Given the description of an element on the screen output the (x, y) to click on. 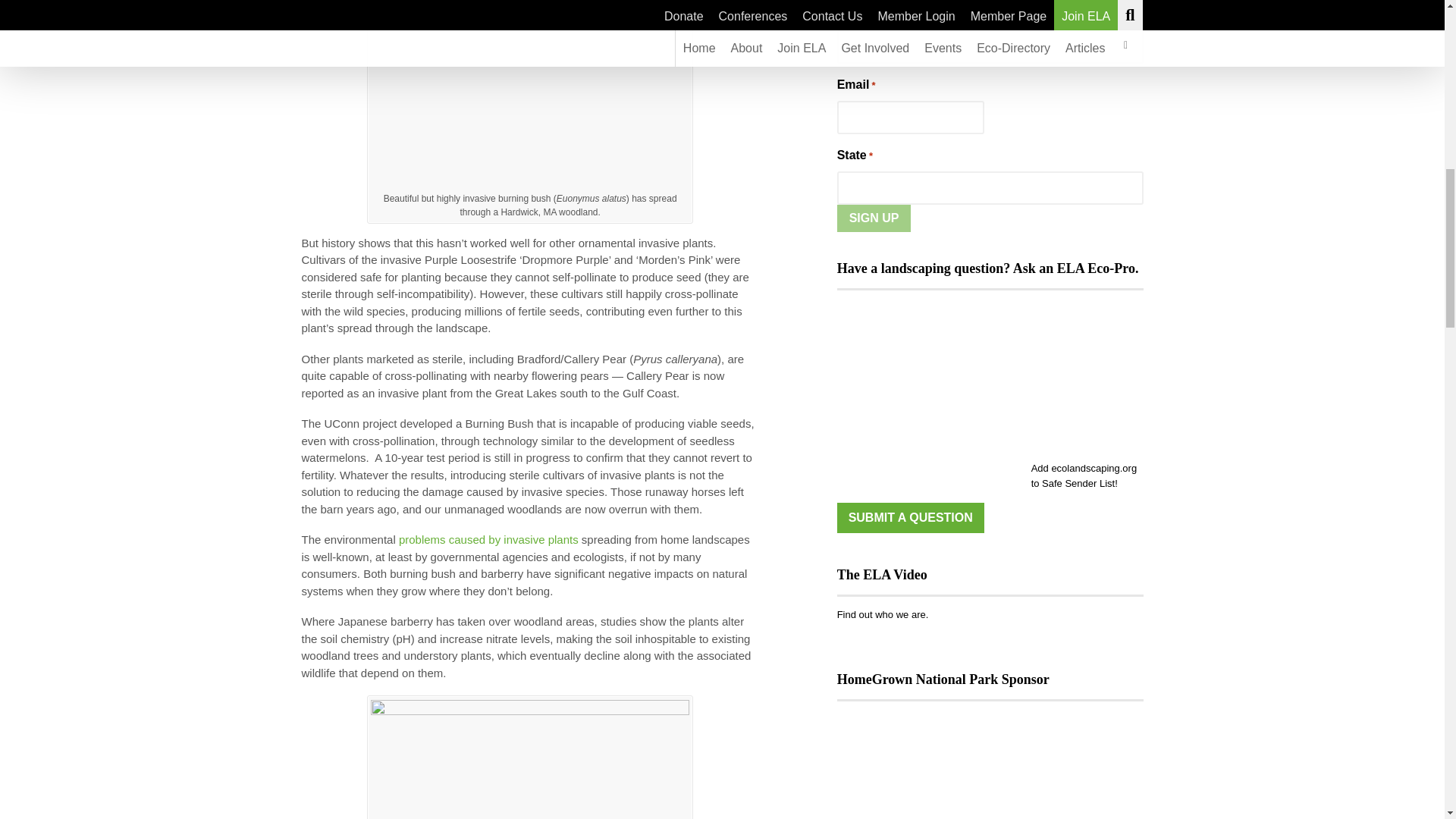
Sign up (874, 217)
